Given the description of an element on the screen output the (x, y) to click on. 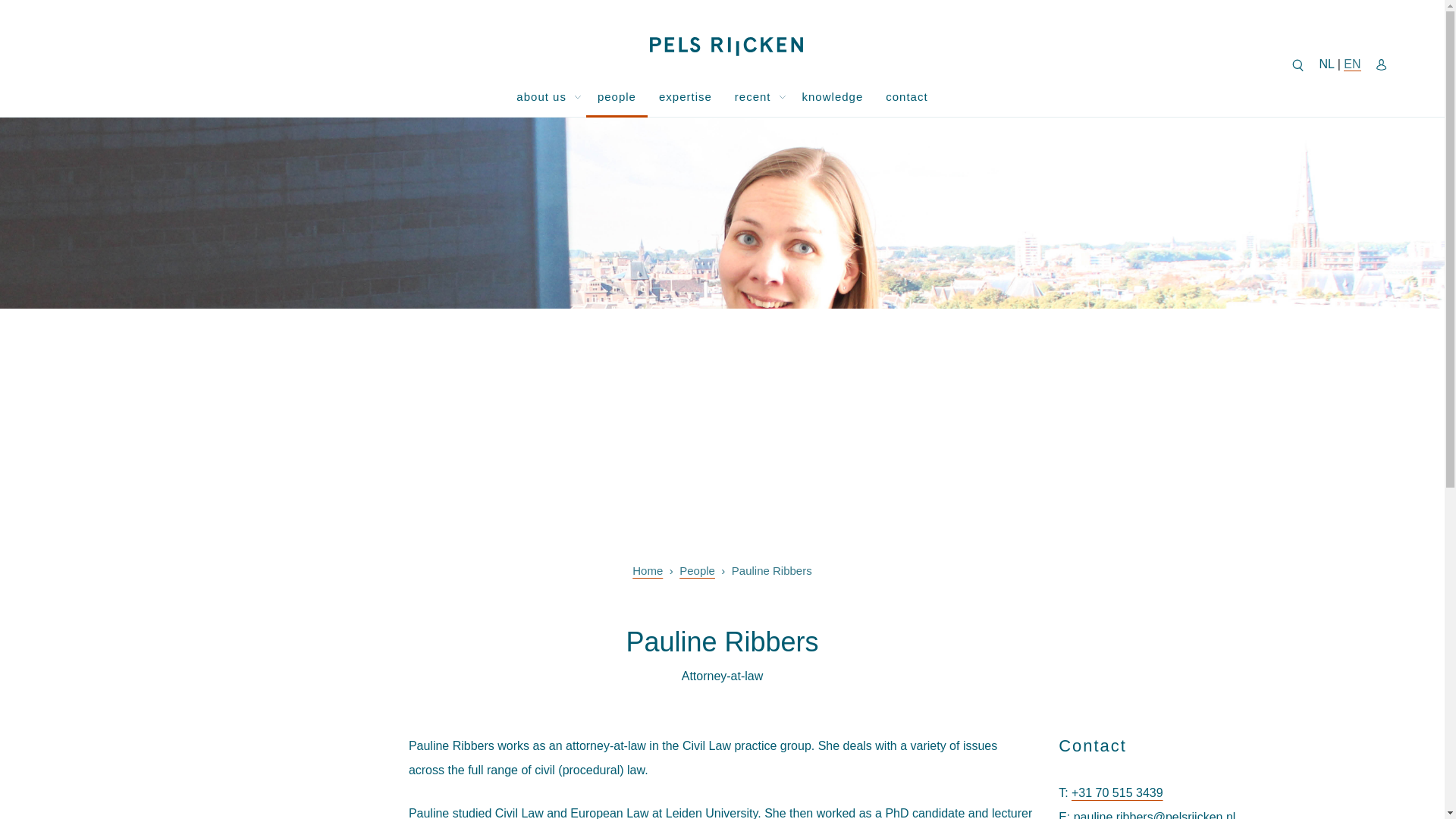
expertise (685, 96)
contact (907, 96)
NL (1326, 63)
people (616, 96)
People (696, 570)
EN (1351, 64)
about us (535, 96)
Home (646, 570)
knowledge (832, 96)
Email (1062, 814)
